Given the description of an element on the screen output the (x, y) to click on. 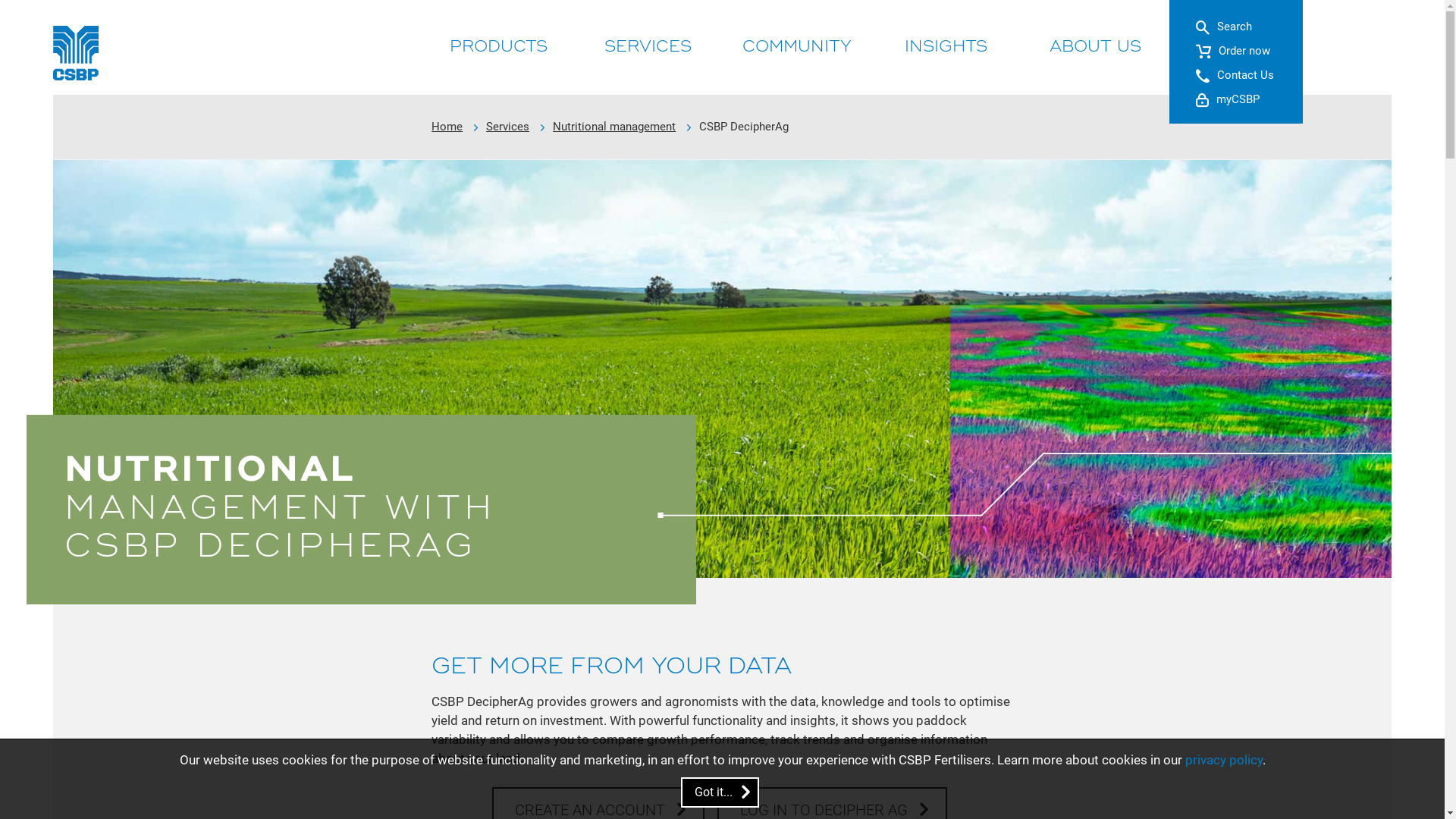
Got it... Element type: text (719, 792)
PRODUCTS Element type: text (498, 47)
Order now Element type: text (1232, 51)
Search Element type: text (1223, 27)
myCSBP Element type: text (1227, 99)
privacy policy Element type: text (1222, 759)
INSIGHTS Element type: text (945, 47)
Nutritional management Element type: text (613, 126)
Full season nutrition Element type: hover (722, 368)
SERVICES Element type: text (647, 47)
COMMUNITY Element type: text (796, 47)
ABOUT US Element type: text (1095, 47)
Contact Us Element type: text (1234, 75)
Home Element type: text (446, 126)
Services Element type: text (507, 126)
